Given the description of an element on the screen output the (x, y) to click on. 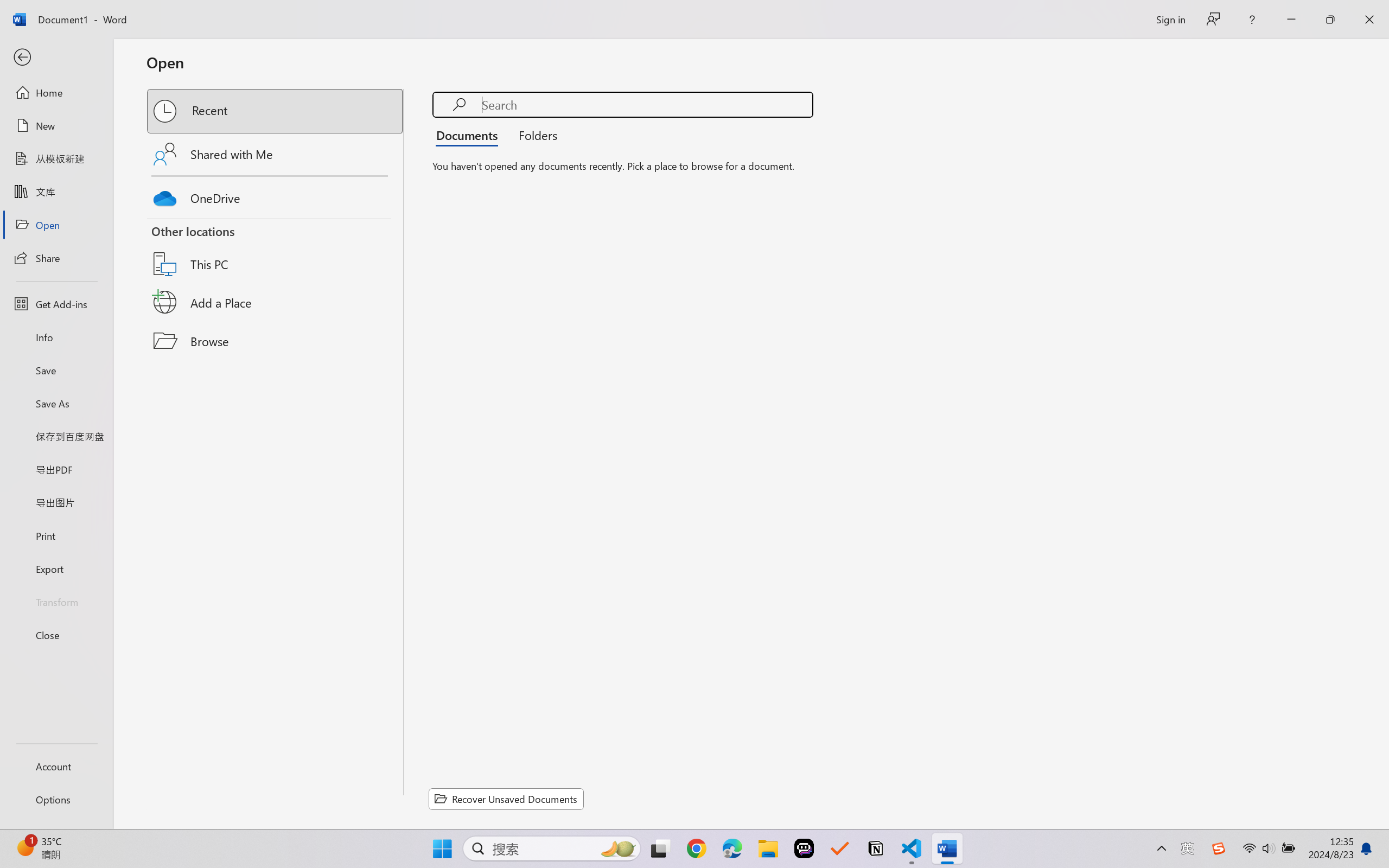
Add a Place (275, 302)
Save As (56, 403)
Recent (275, 110)
Shared with Me (275, 153)
Recover Unsaved Documents (506, 798)
This PC (275, 249)
Export (56, 568)
